Given the description of an element on the screen output the (x, y) to click on. 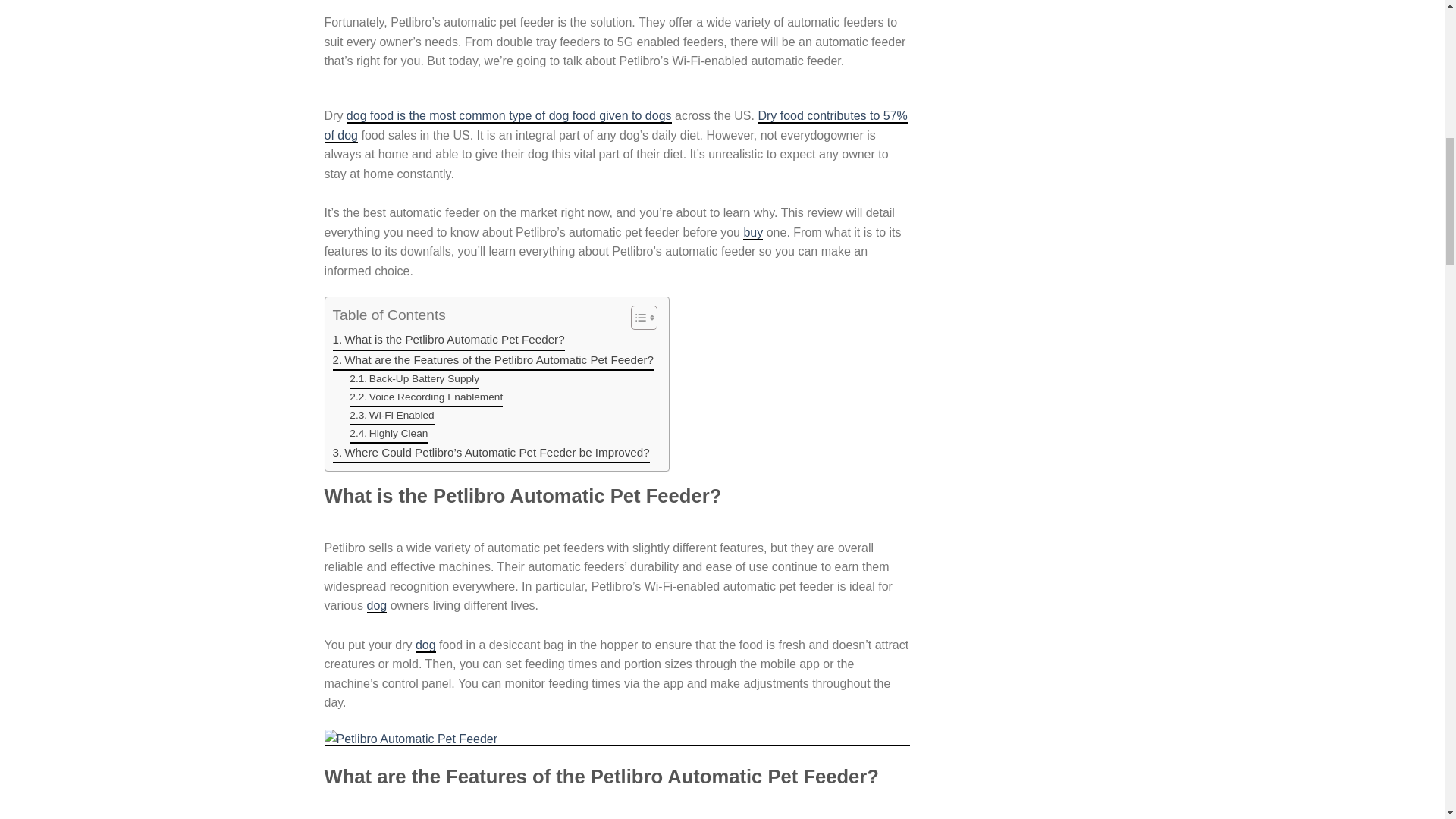
What is the Petlibro Automatic Pet Feeder? (447, 340)
The Ultimate Guide To Buying Dog Collars (752, 233)
